Given the description of an element on the screen output the (x, y) to click on. 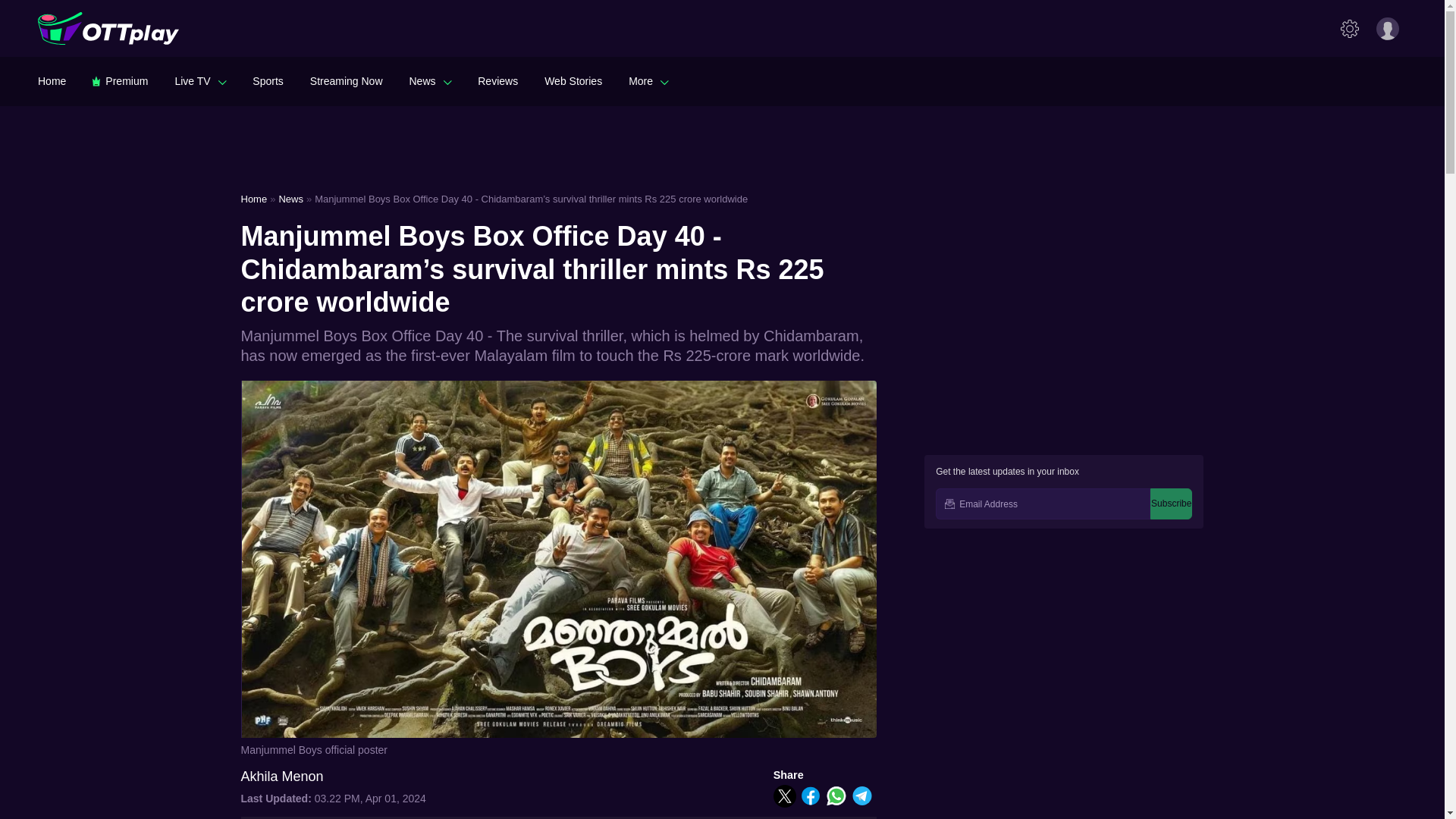
Streaming Now (346, 80)
News (430, 80)
Live TV (199, 80)
Web Stories (573, 80)
Premium (120, 80)
